Given the description of an element on the screen output the (x, y) to click on. 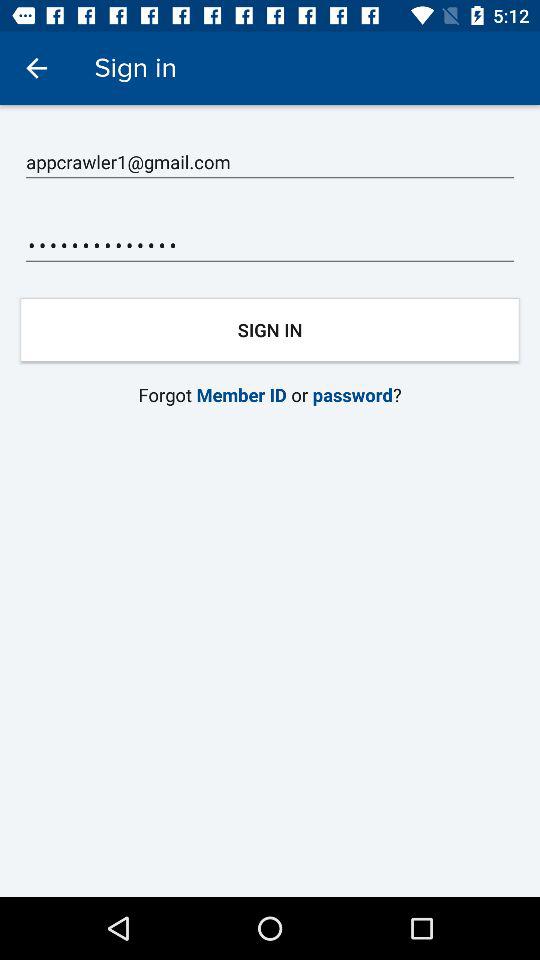
select appcrawler3116 (270, 246)
